Given the description of an element on the screen output the (x, y) to click on. 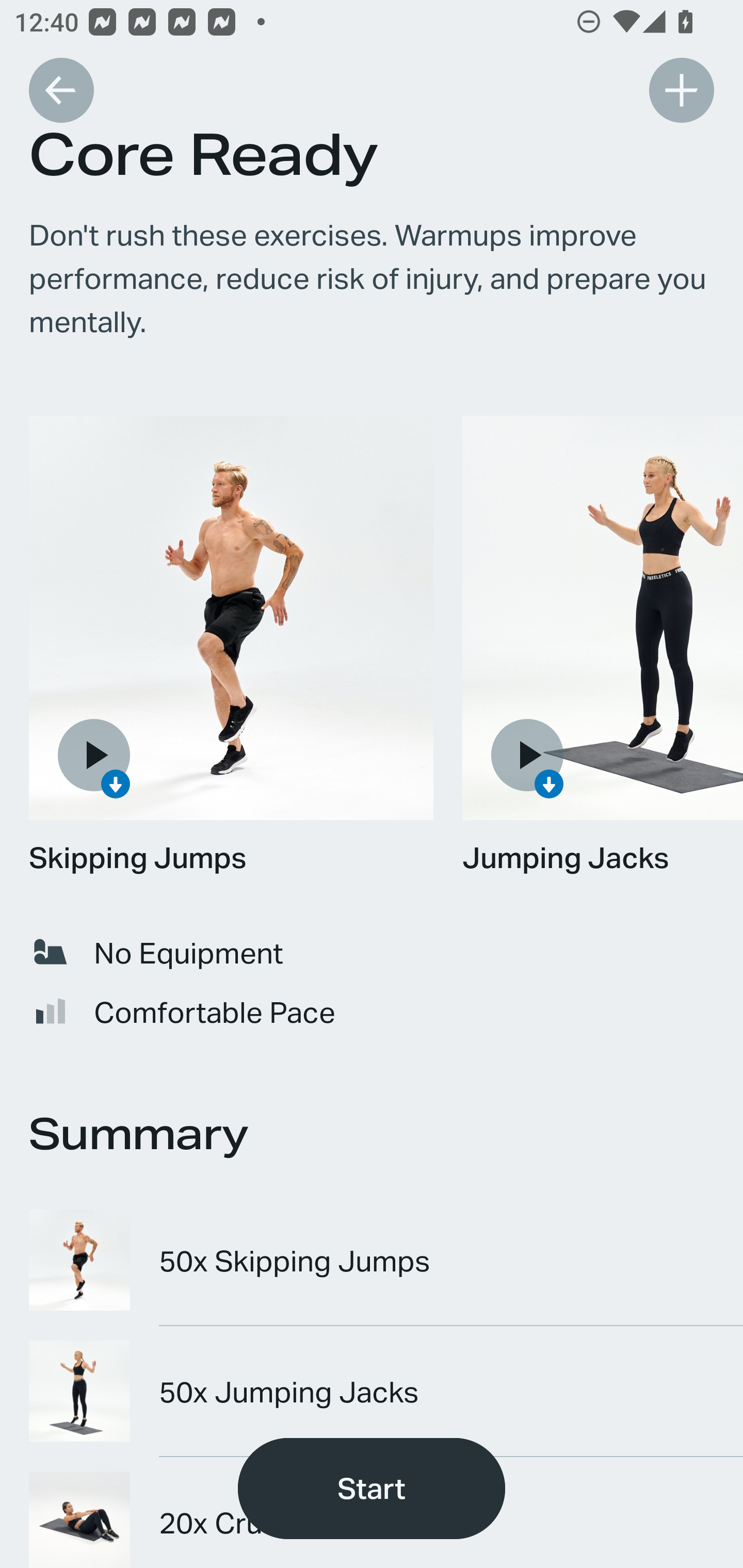
Go back (60, 90)
Log (681, 90)
Start (371, 1488)
